Given the description of an element on the screen output the (x, y) to click on. 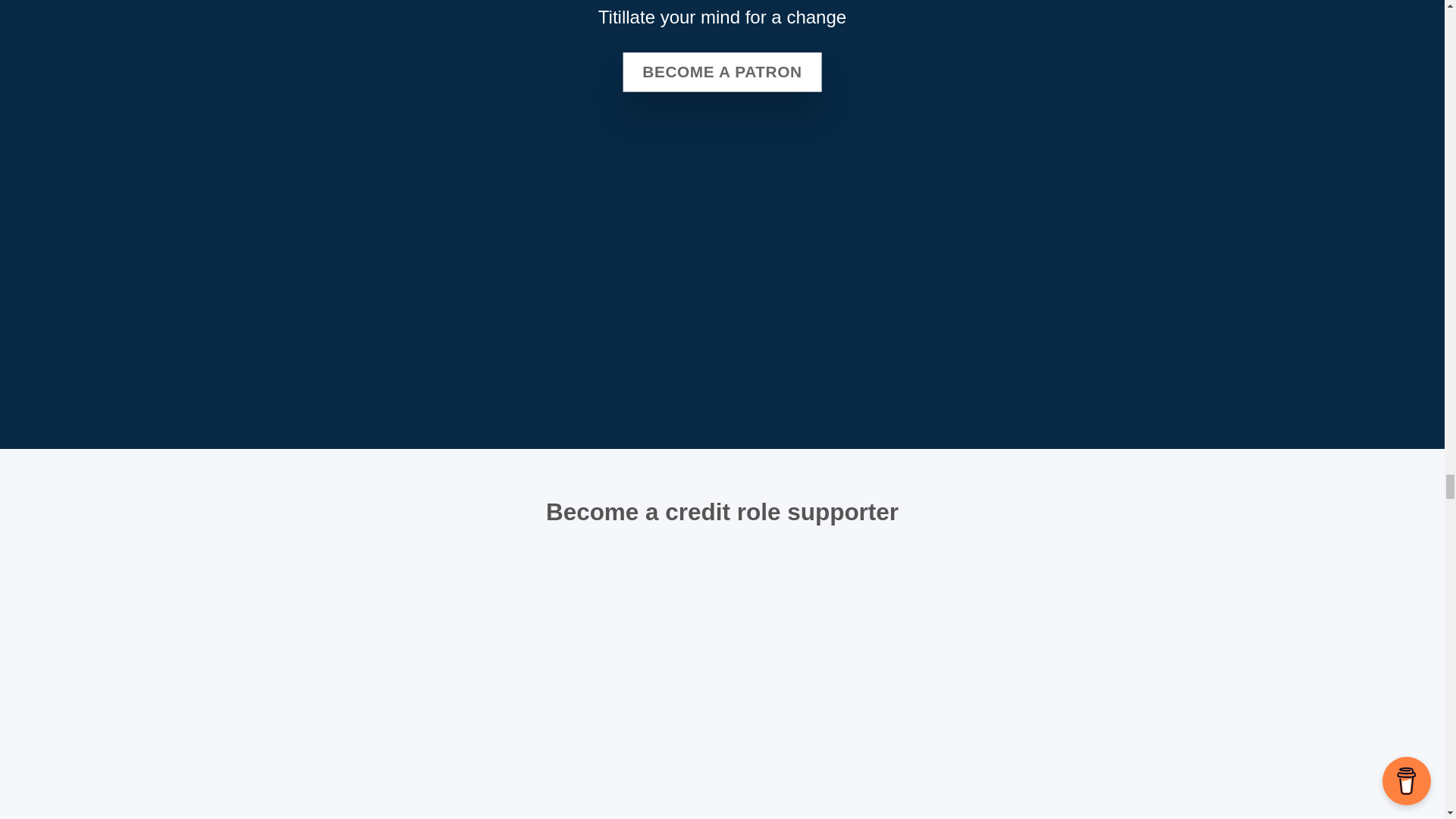
BECOME A PATRON (722, 71)
